Given the description of an element on the screen output the (x, y) to click on. 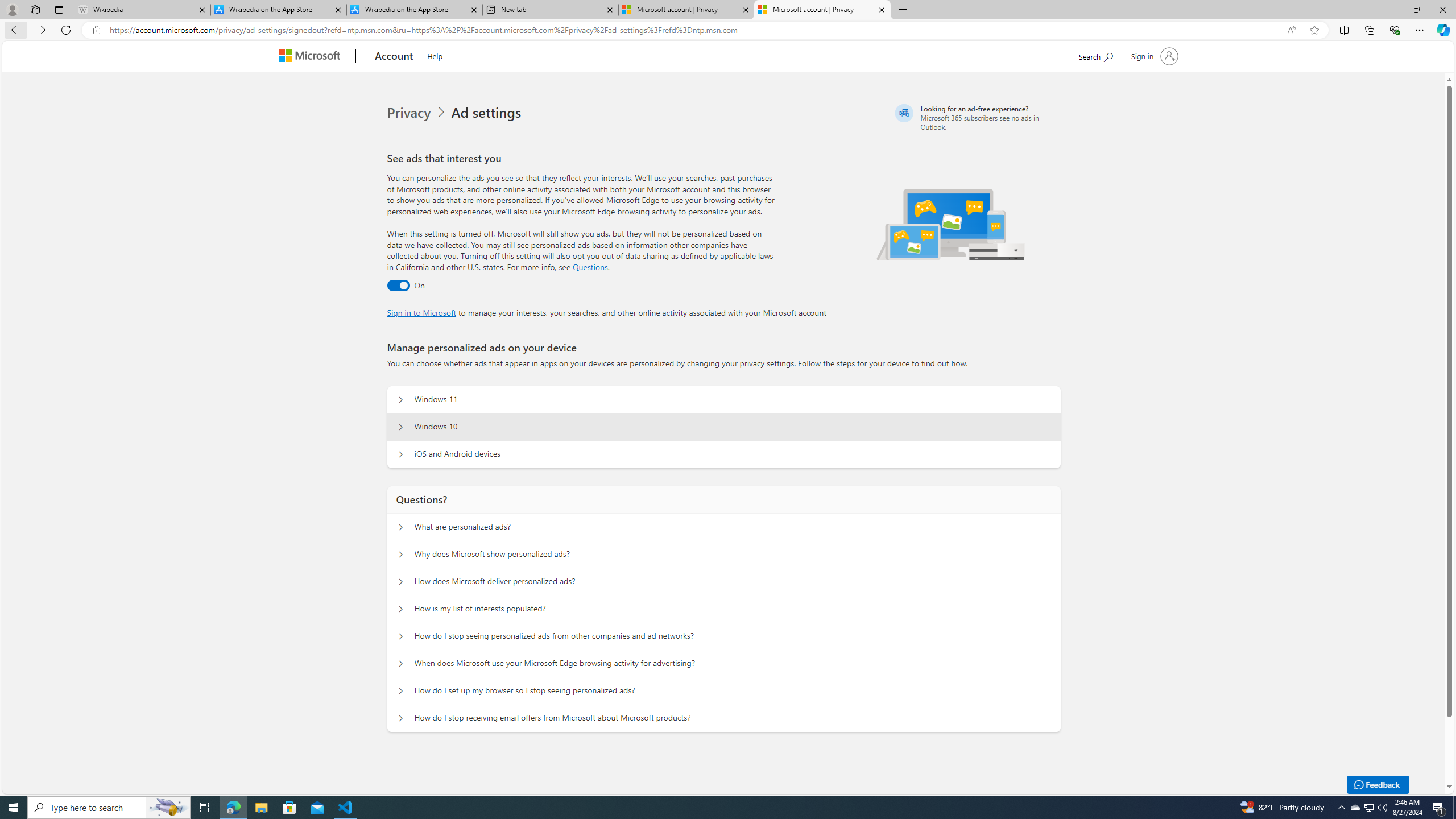
Manage personalized ads on your device Windows 11 (401, 400)
